Given the description of an element on the screen output the (x, y) to click on. 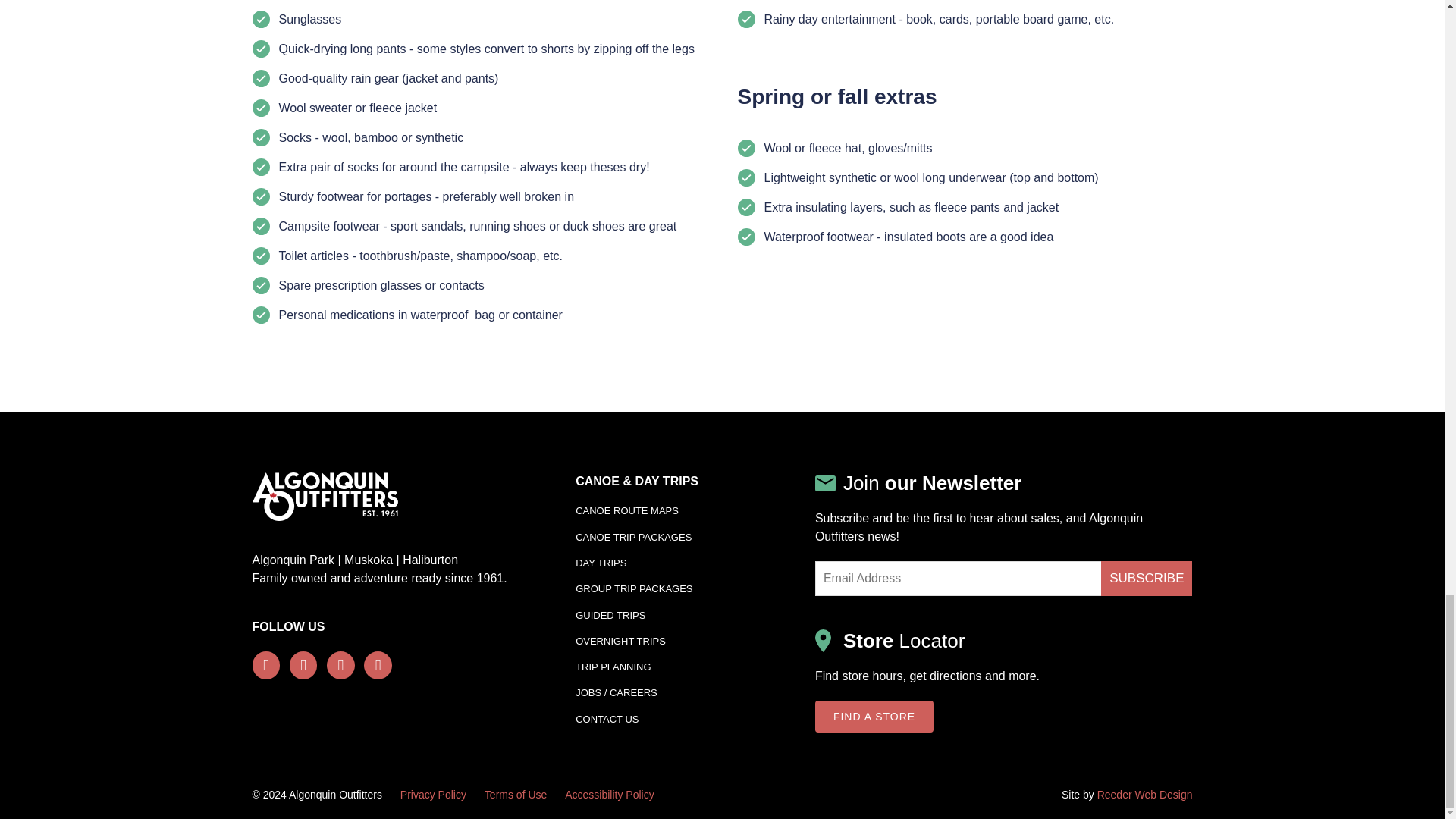
Subscribe (1146, 578)
